Given the description of an element on the screen output the (x, y) to click on. 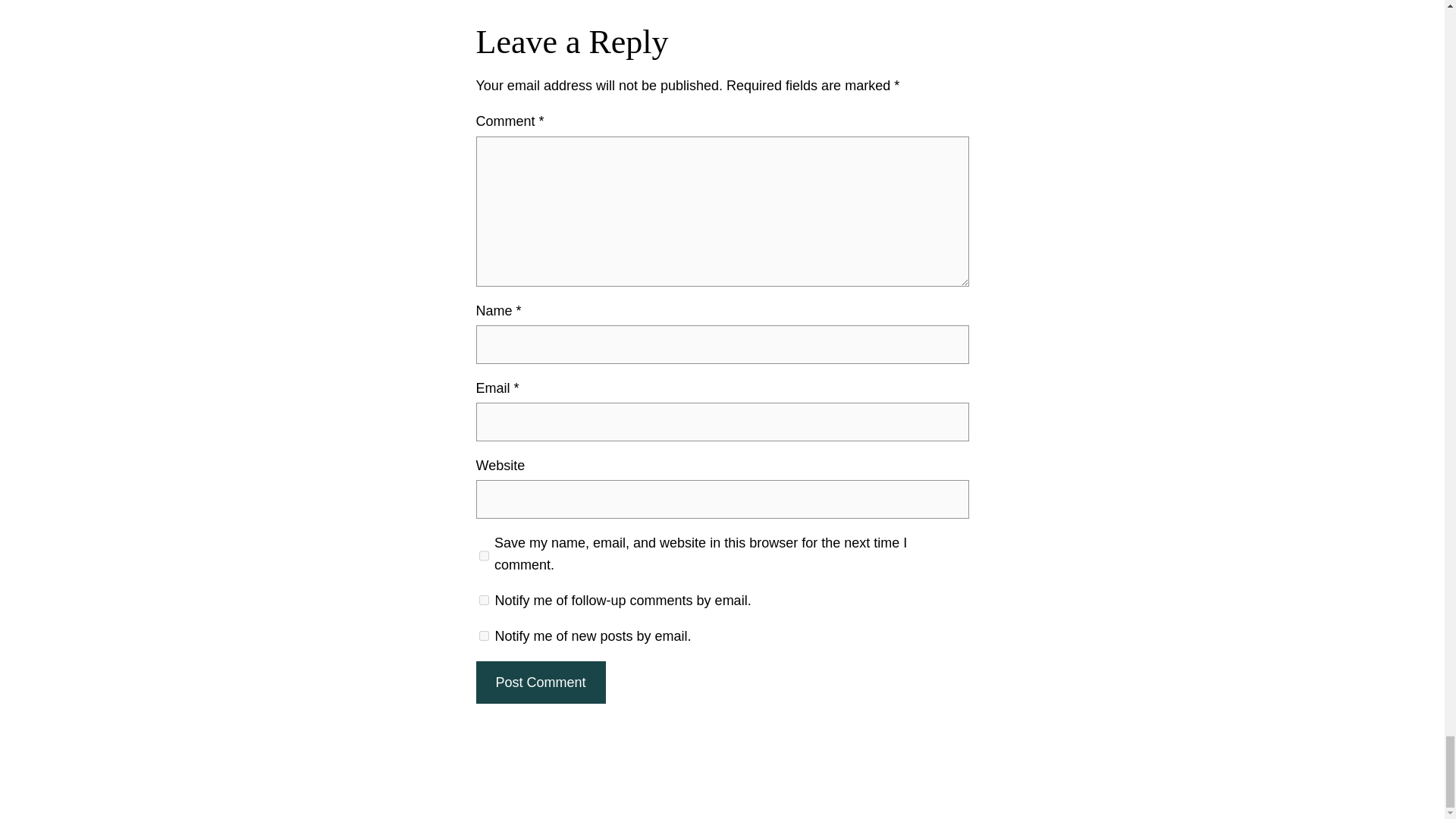
subscribe (484, 600)
Post Comment (540, 682)
subscribe (484, 635)
